Given the description of an element on the screen output the (x, y) to click on. 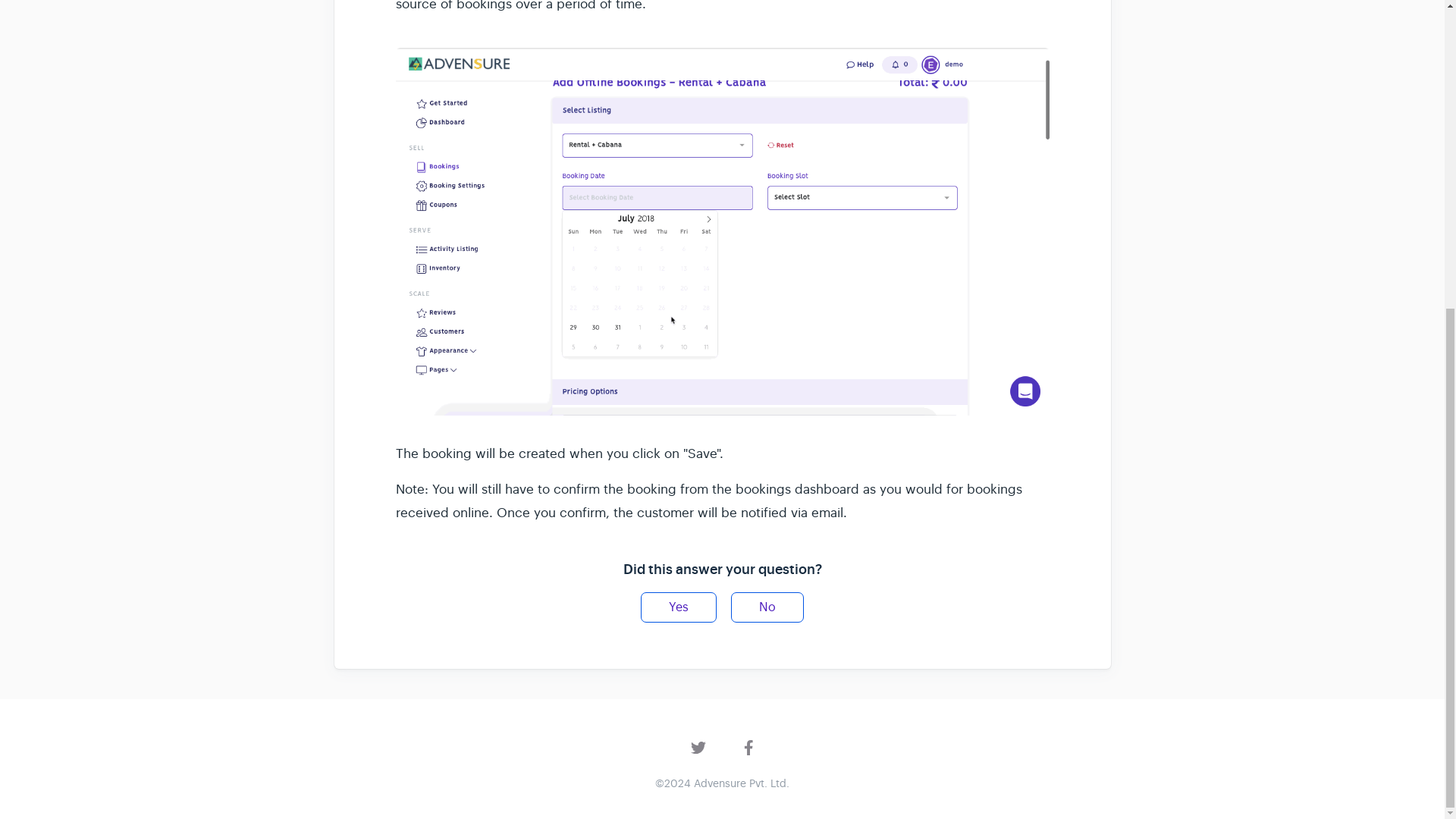
Yes (678, 607)
No (766, 607)
